Given the description of an element on the screen output the (x, y) to click on. 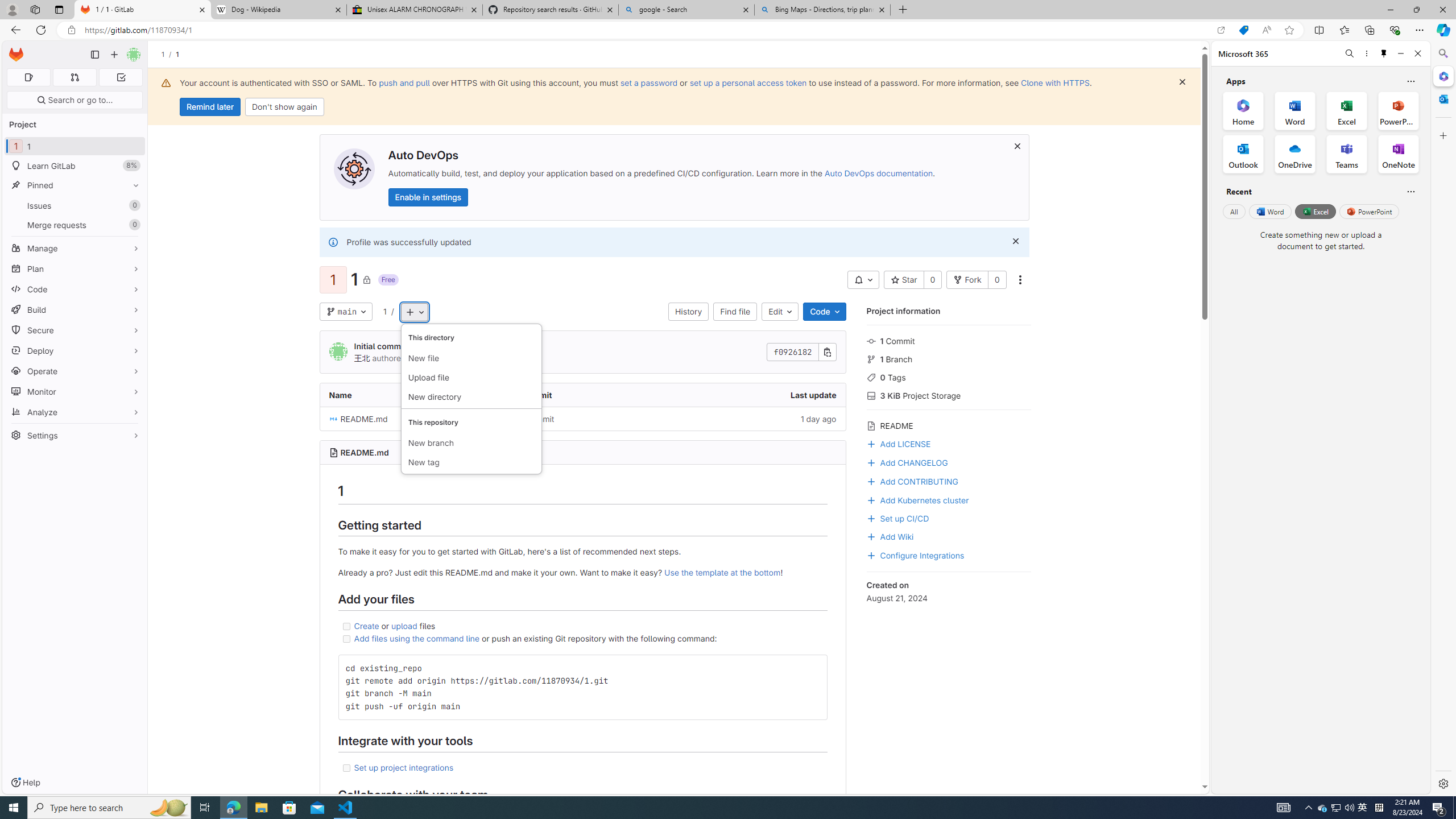
Remind later (210, 106)
OneDrive Office App (1295, 154)
Last commit (583, 395)
Monitor (74, 391)
Auto DevOps documentation (878, 172)
Upload file (470, 377)
PowerPoint Office App (1398, 110)
New branch (470, 443)
Configure Integrations (948, 554)
Excel (1315, 210)
Issues0 (74, 205)
